Given the description of an element on the screen output the (x, y) to click on. 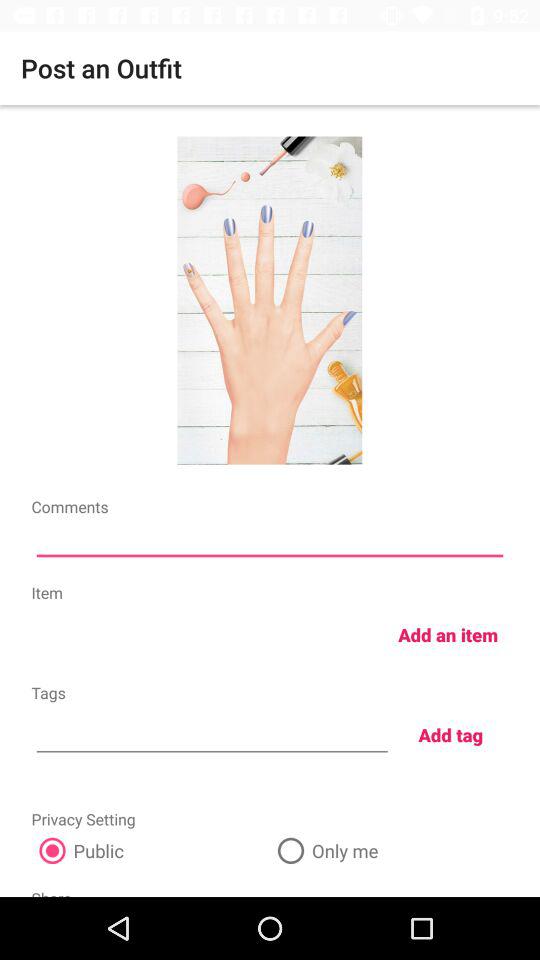
jump until add tag icon (450, 734)
